Given the description of an element on the screen output the (x, y) to click on. 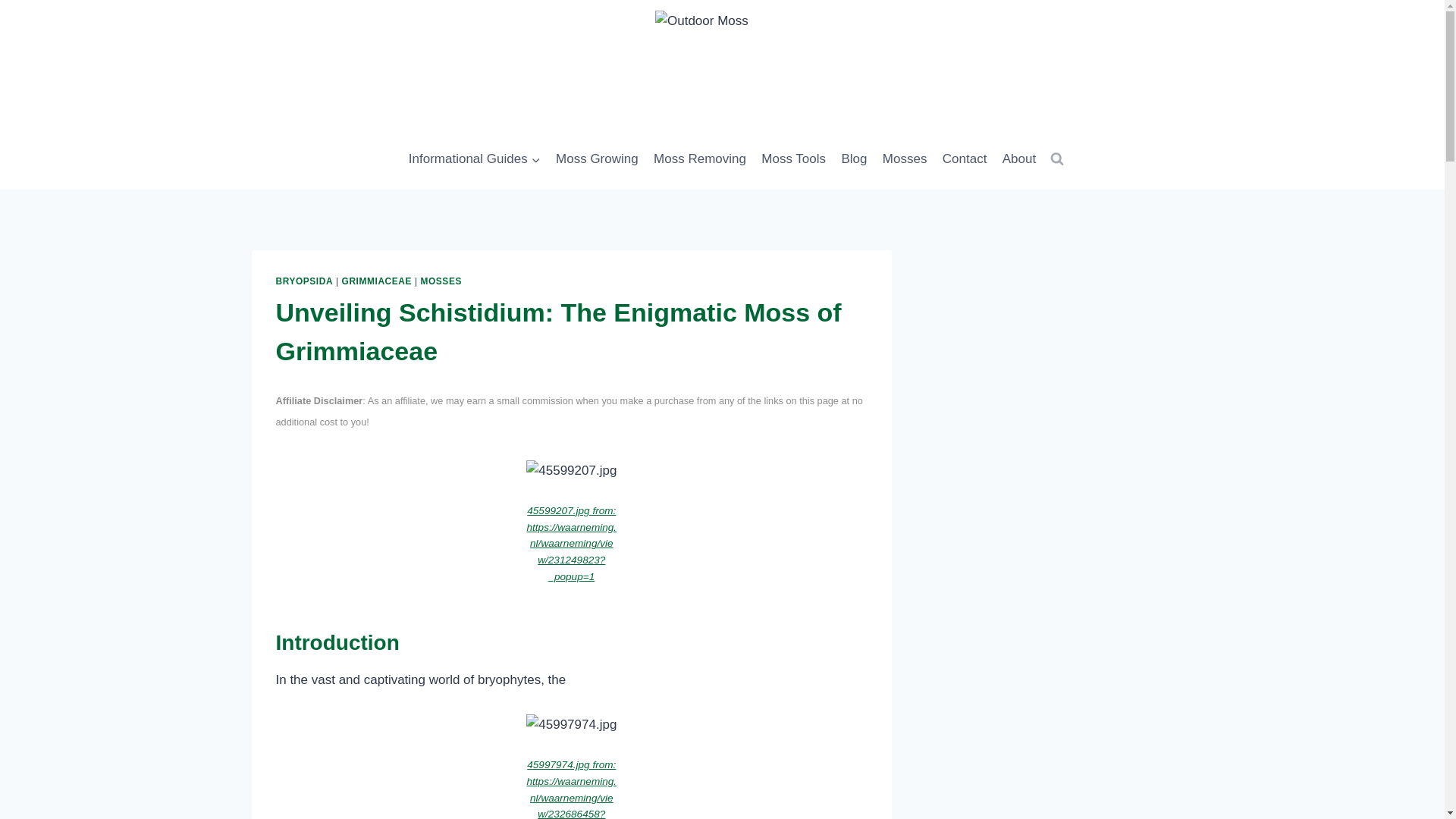
Contact (964, 158)
Informational Guides (474, 158)
About (1018, 158)
Moss Removing (700, 158)
Moss Tools (793, 158)
MOSSES (440, 281)
GRIMMIACEAE (377, 281)
Moss Growing (597, 158)
Mosses (904, 158)
Blog (853, 158)
